Given the description of an element on the screen output the (x, y) to click on. 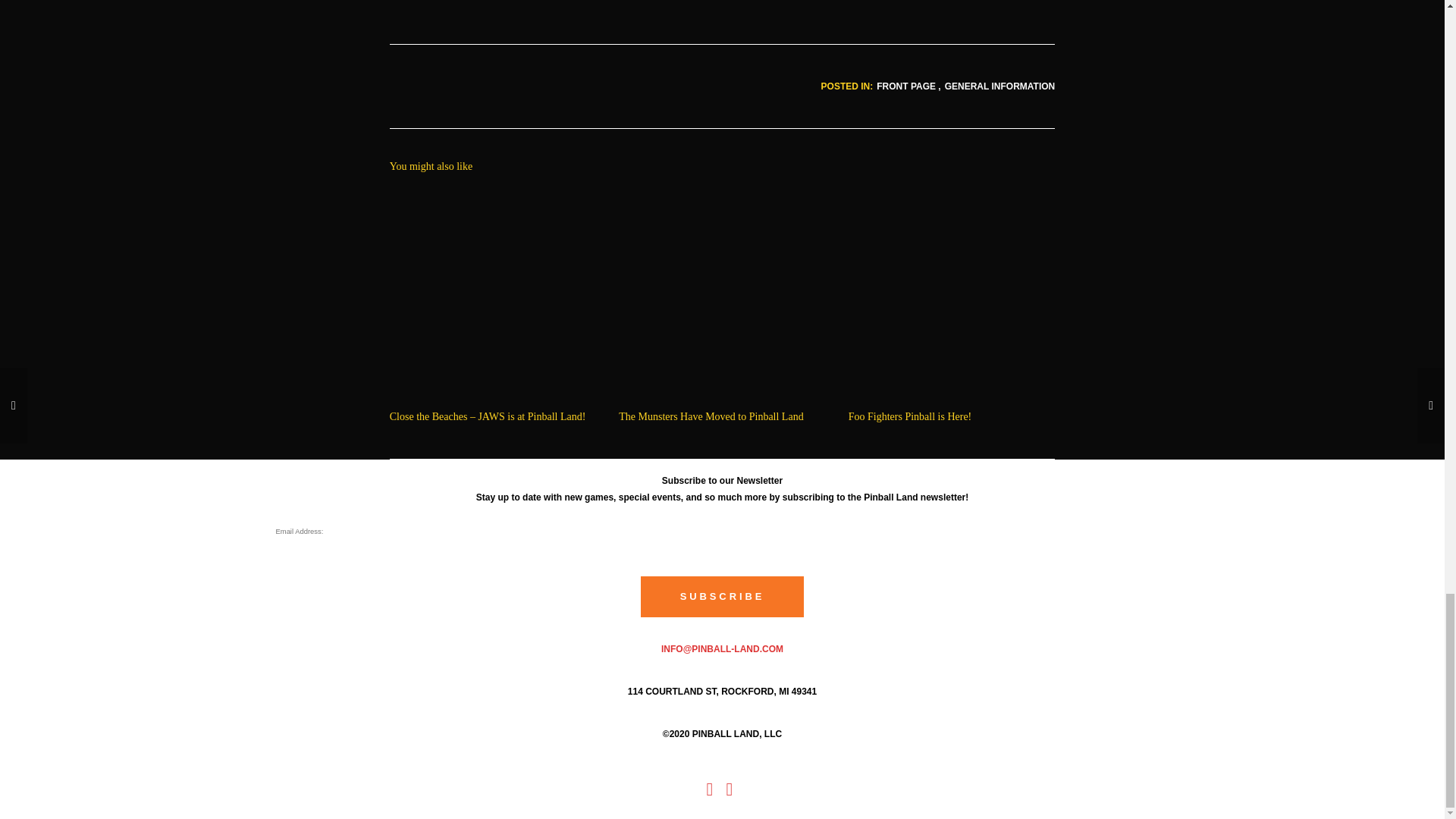
GENERAL INFORMATION (999, 86)
Subscribe (722, 597)
FRONT PAGE (906, 86)
